Given the description of an element on the screen output the (x, y) to click on. 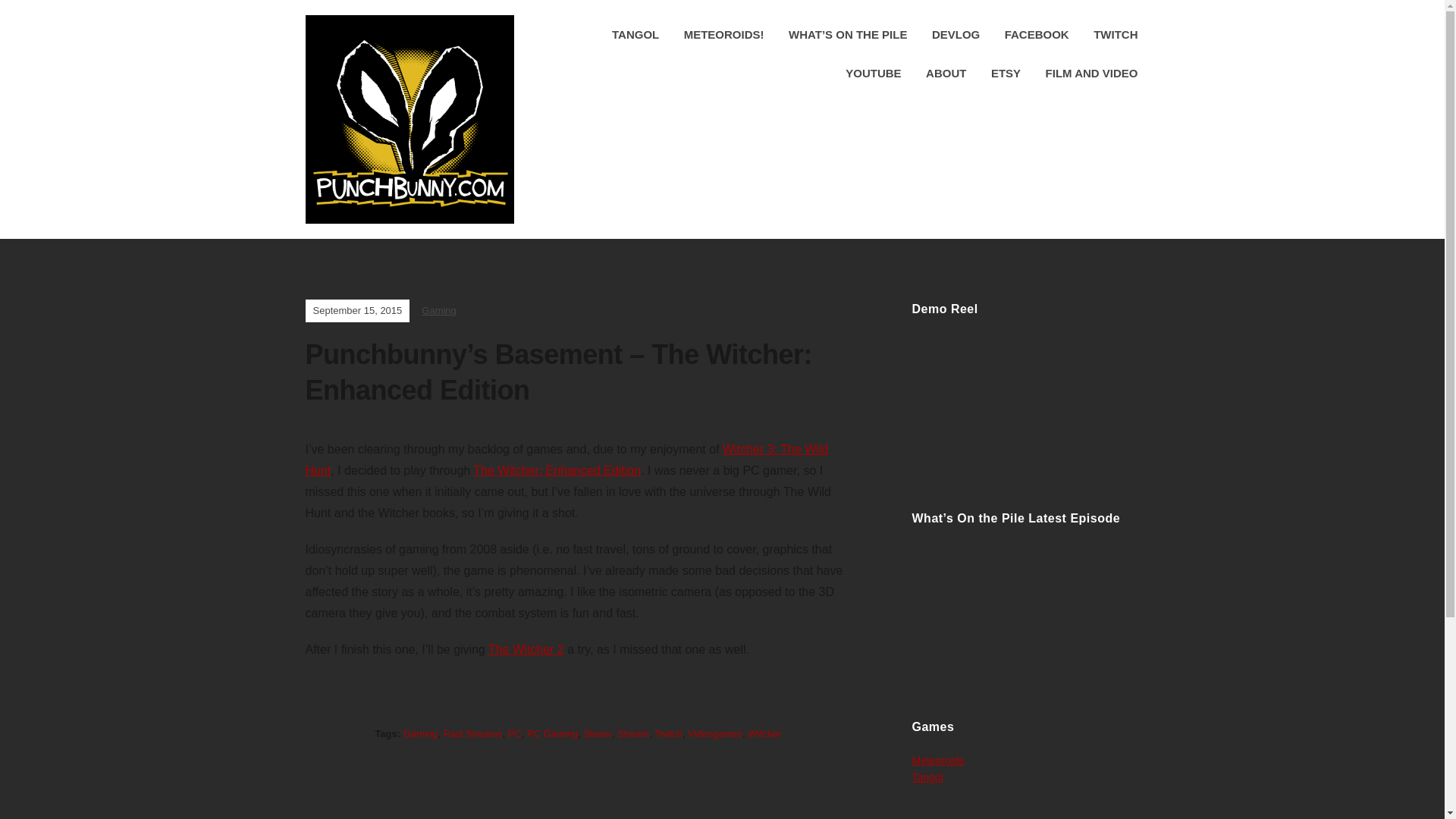
YOUTUBE (873, 73)
Gaming (439, 310)
Meteoroids (937, 760)
Twitch (667, 733)
TANGOL (635, 34)
PC Gaming (552, 733)
The Witcher 2 (525, 649)
FACEBOOK (1036, 34)
Past Streams (472, 733)
TWITCH (1115, 34)
